Given the description of an element on the screen output the (x, y) to click on. 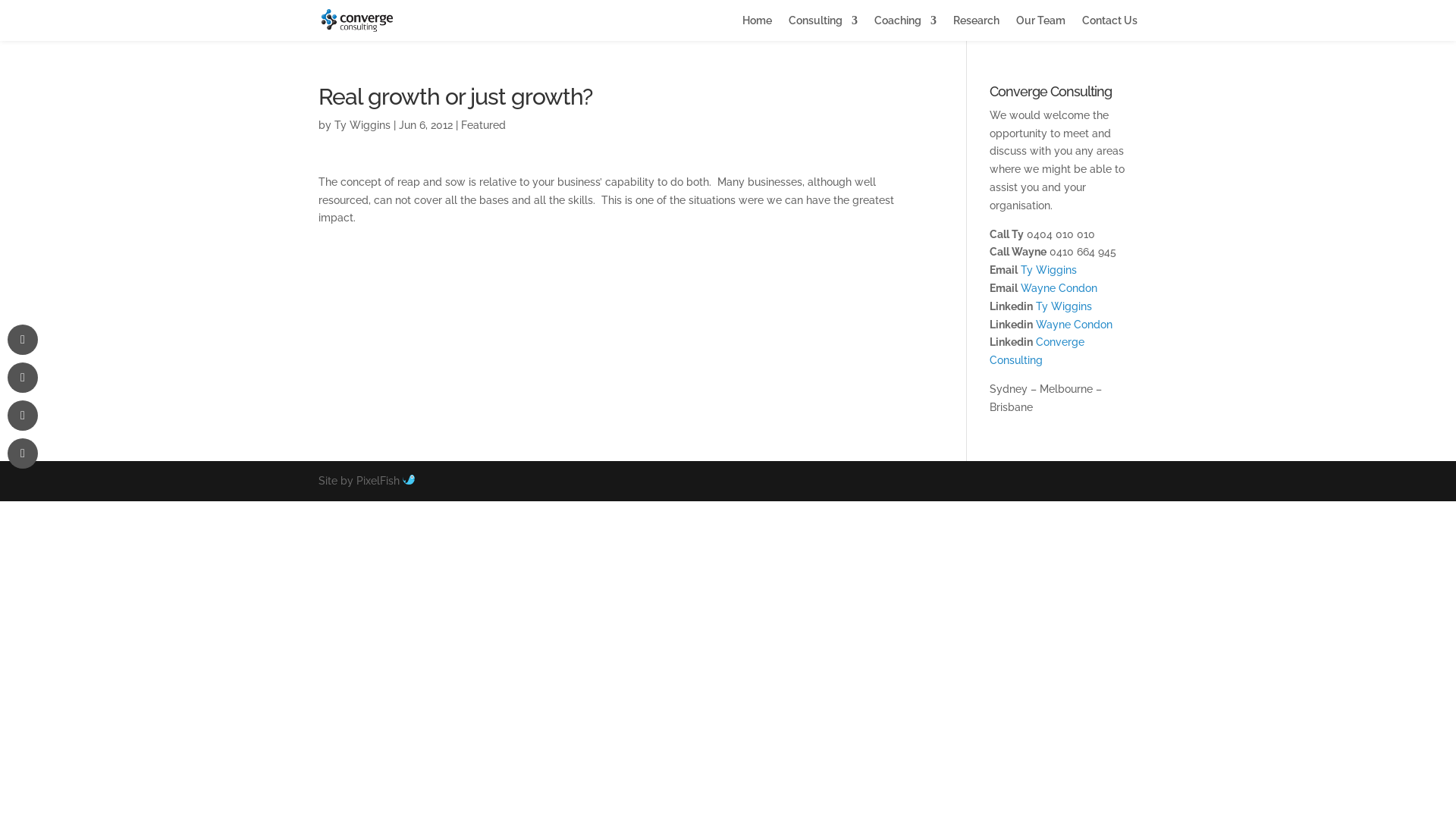
Featured Element type: text (483, 125)
Research Element type: text (976, 27)
Coaching Element type: text (905, 27)
Wayne Condon Element type: text (1073, 324)
Home Element type: text (756, 27)
Our Team Element type: text (1040, 27)
Converge Consulting Element type: text (1036, 350)
Ty Wiggins Element type: text (1048, 269)
Consulting Element type: text (822, 27)
Ty Wiggins Element type: text (362, 125)
Ty Wiggins Element type: text (1063, 306)
Contact Us Element type: text (1109, 27)
Wayne Condon Element type: text (1058, 288)
